Given the description of an element on the screen output the (x, y) to click on. 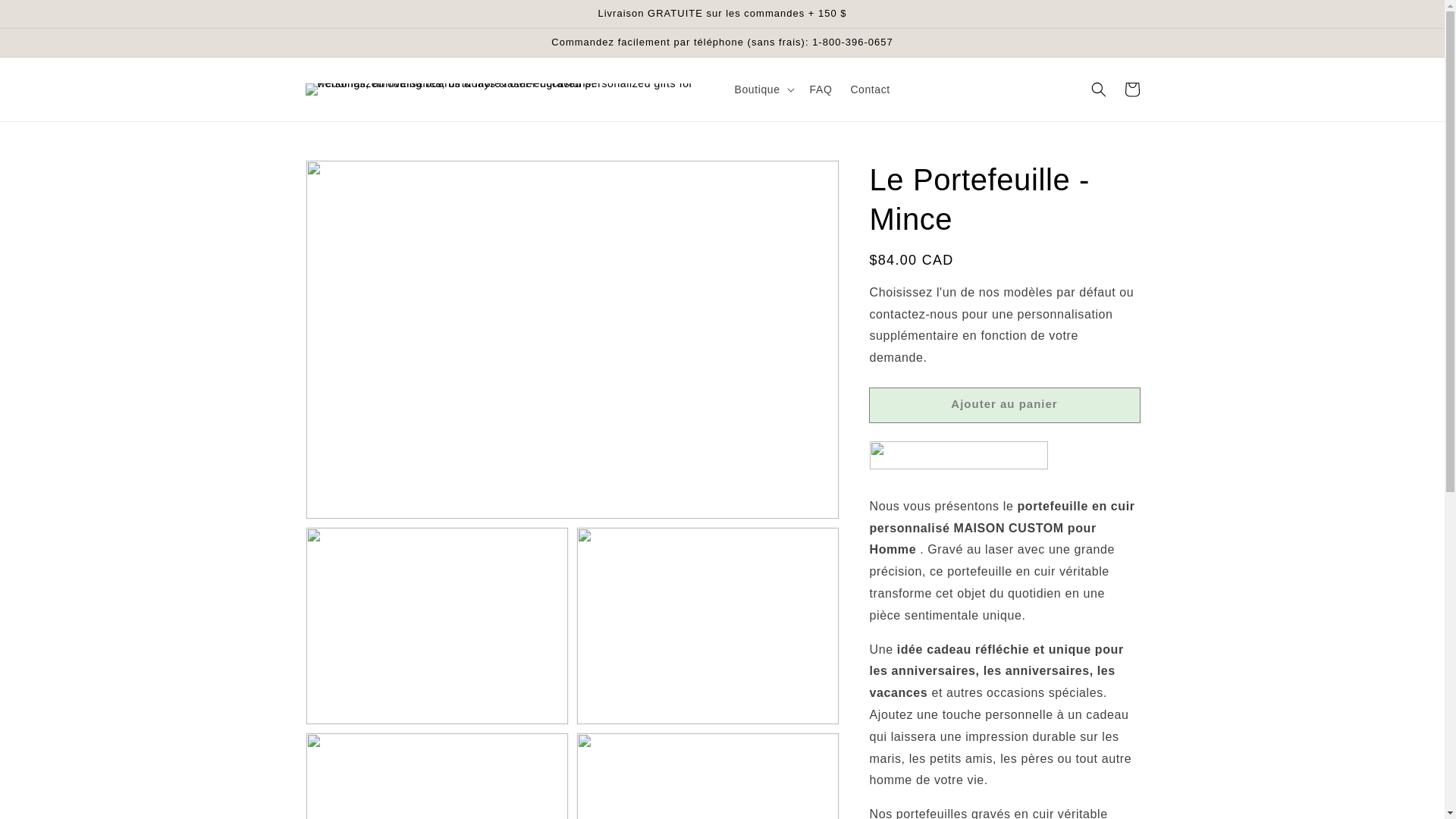
Panier (1131, 89)
Contact (869, 89)
Passer aux informations produits (350, 175)
Ignorer et passer au contenu (45, 16)
FAQ (820, 89)
Ajouter au panier (1003, 405)
